Given the description of an element on the screen output the (x, y) to click on. 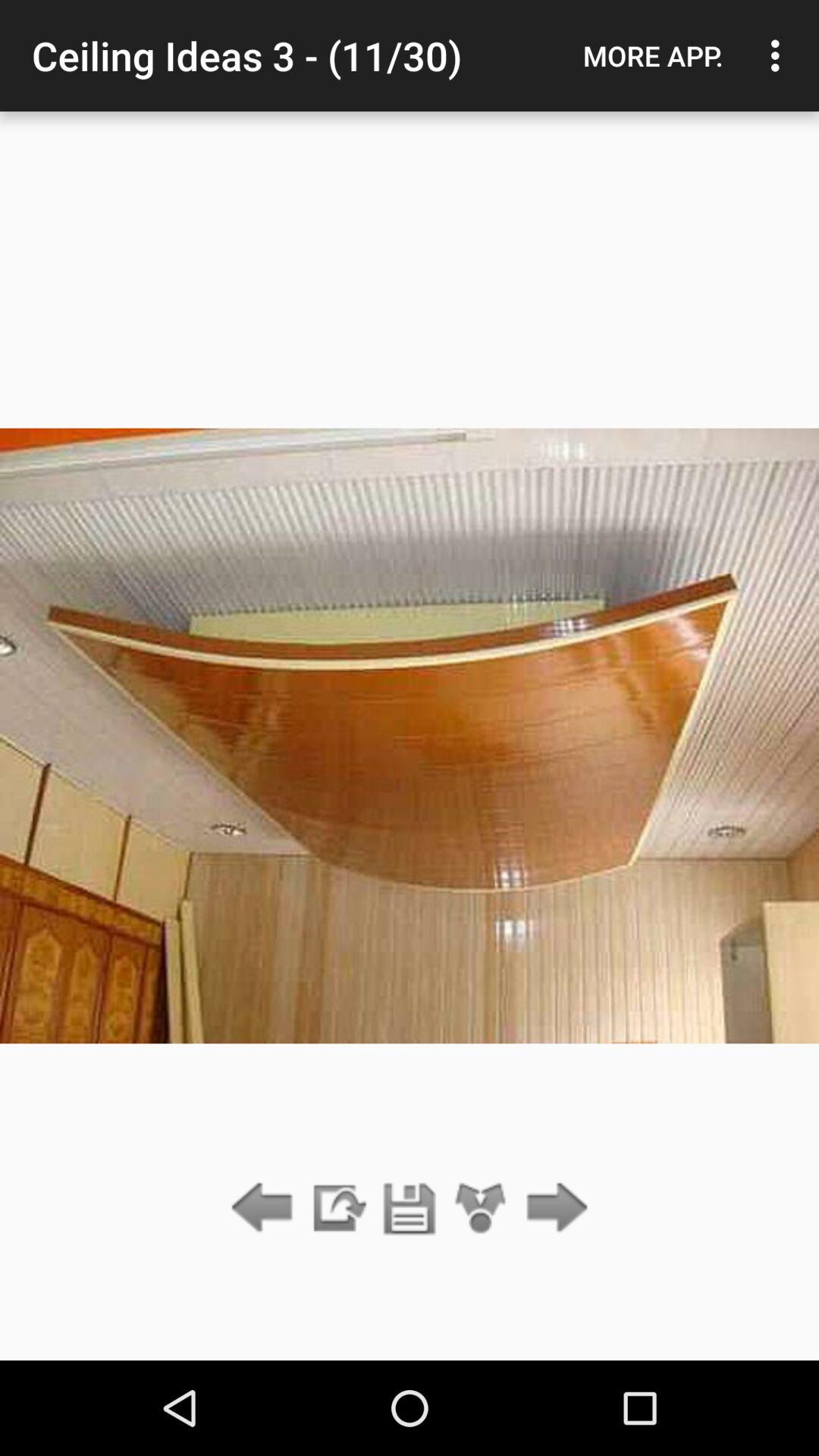
go back (266, 1209)
